Given the description of an element on the screen output the (x, y) to click on. 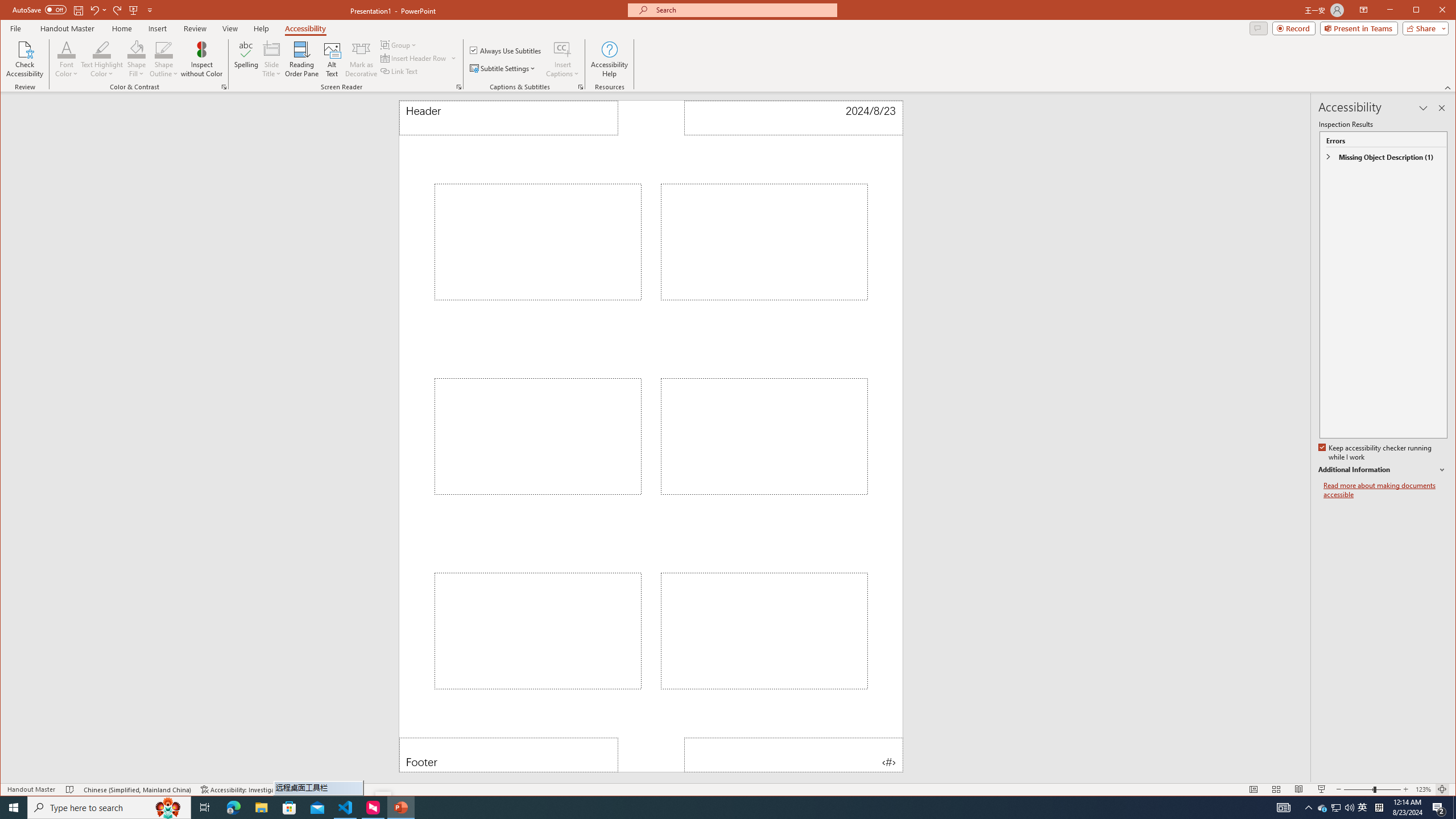
Insert Header Row (413, 57)
Color & Contrast (223, 86)
Accessibility Help (608, 59)
